Given the description of an element on the screen output the (x, y) to click on. 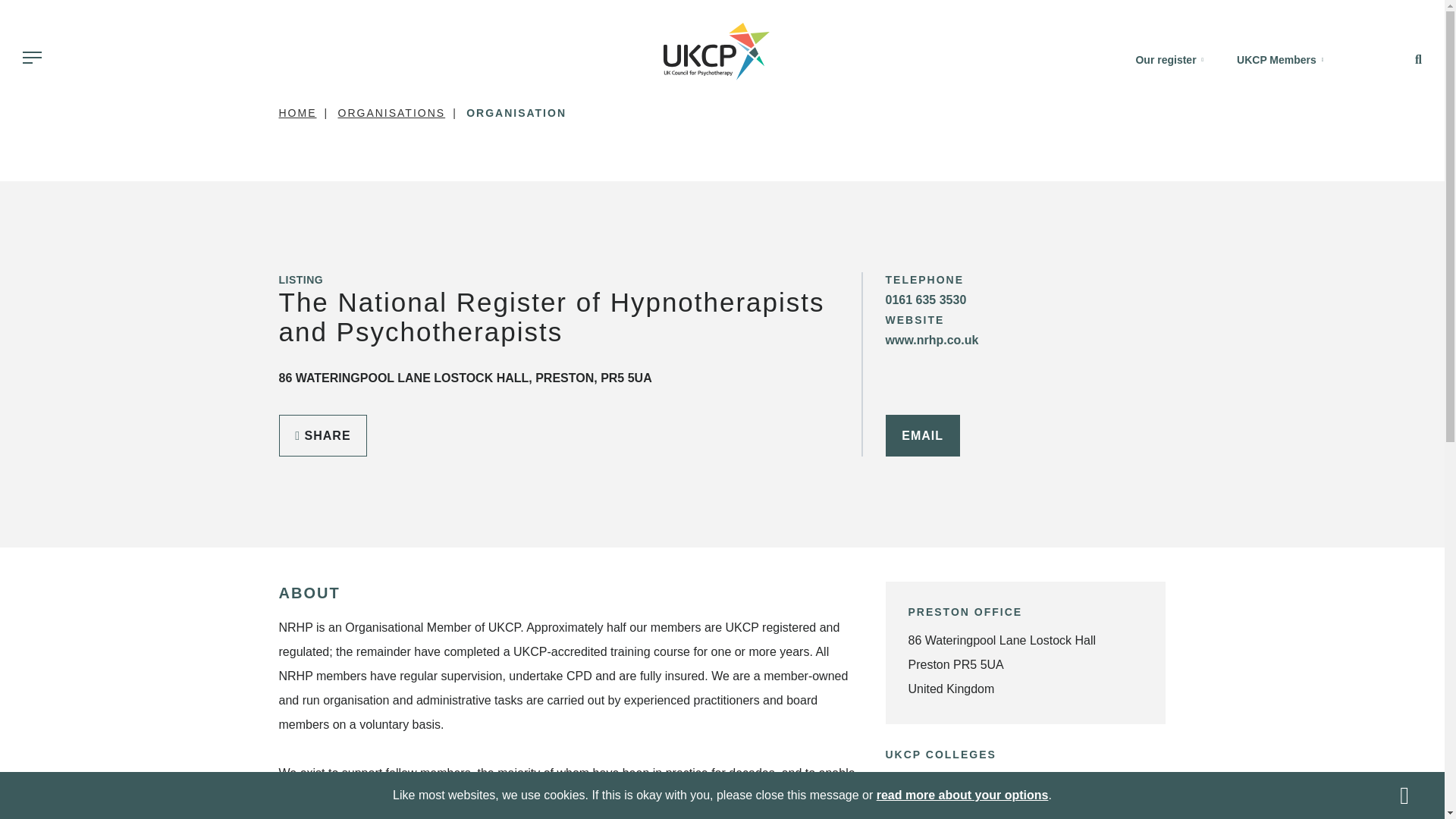
Our register (1168, 59)
UKCP Members (1279, 59)
Privacy (962, 794)
